Given the description of an element on the screen output the (x, y) to click on. 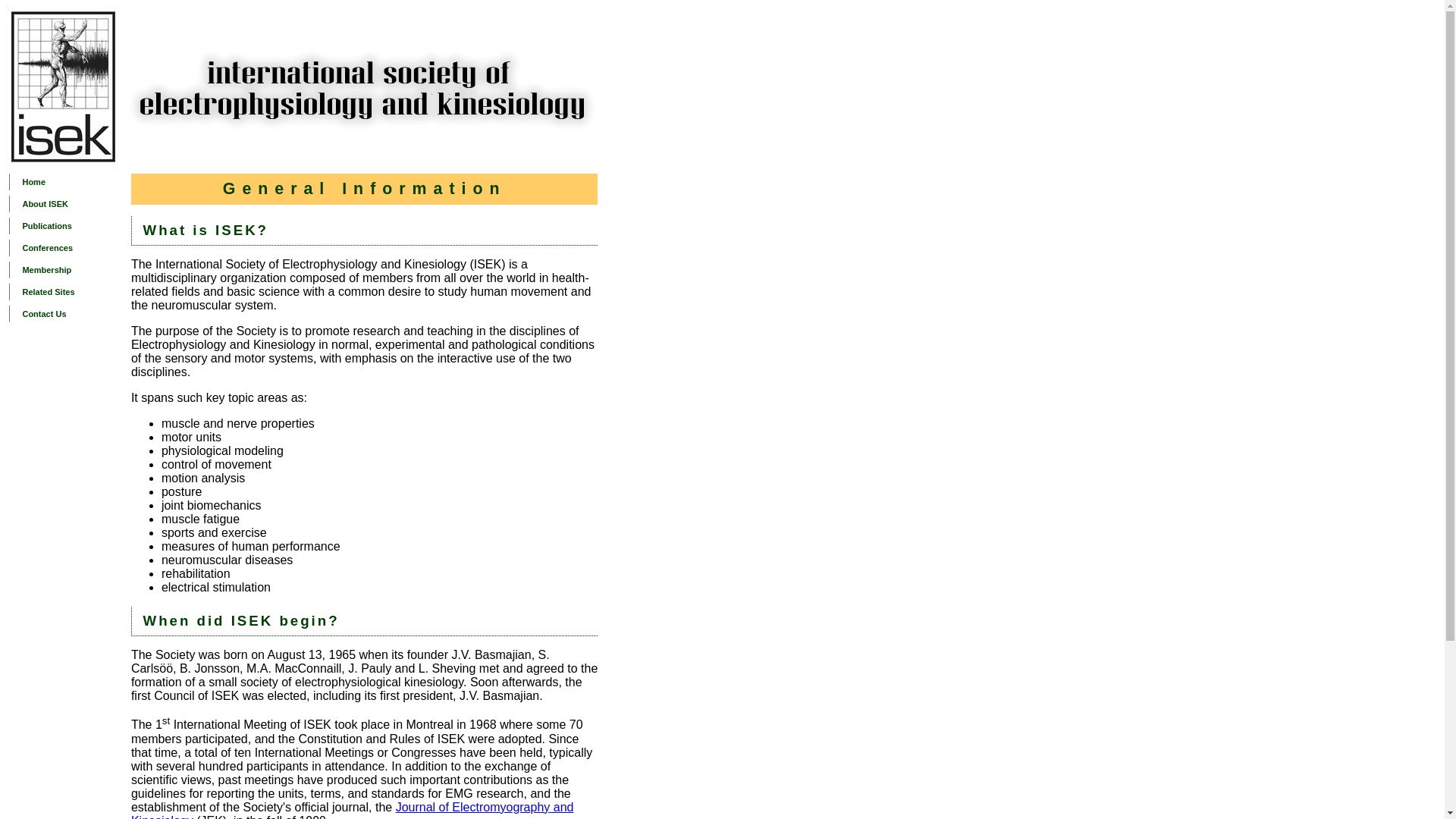
Publications (69, 225)
Contact Us (69, 313)
Home (69, 181)
About ISEK (69, 203)
Contact Us (69, 313)
About ISEK (69, 203)
Related (69, 291)
Membership (69, 269)
Journal of Electromyography and Kinesiology (352, 809)
Publications (69, 225)
Conferences (69, 247)
Conferences (69, 247)
Membership (69, 269)
Related Sites (69, 291)
Home (69, 181)
